Given the description of an element on the screen output the (x, y) to click on. 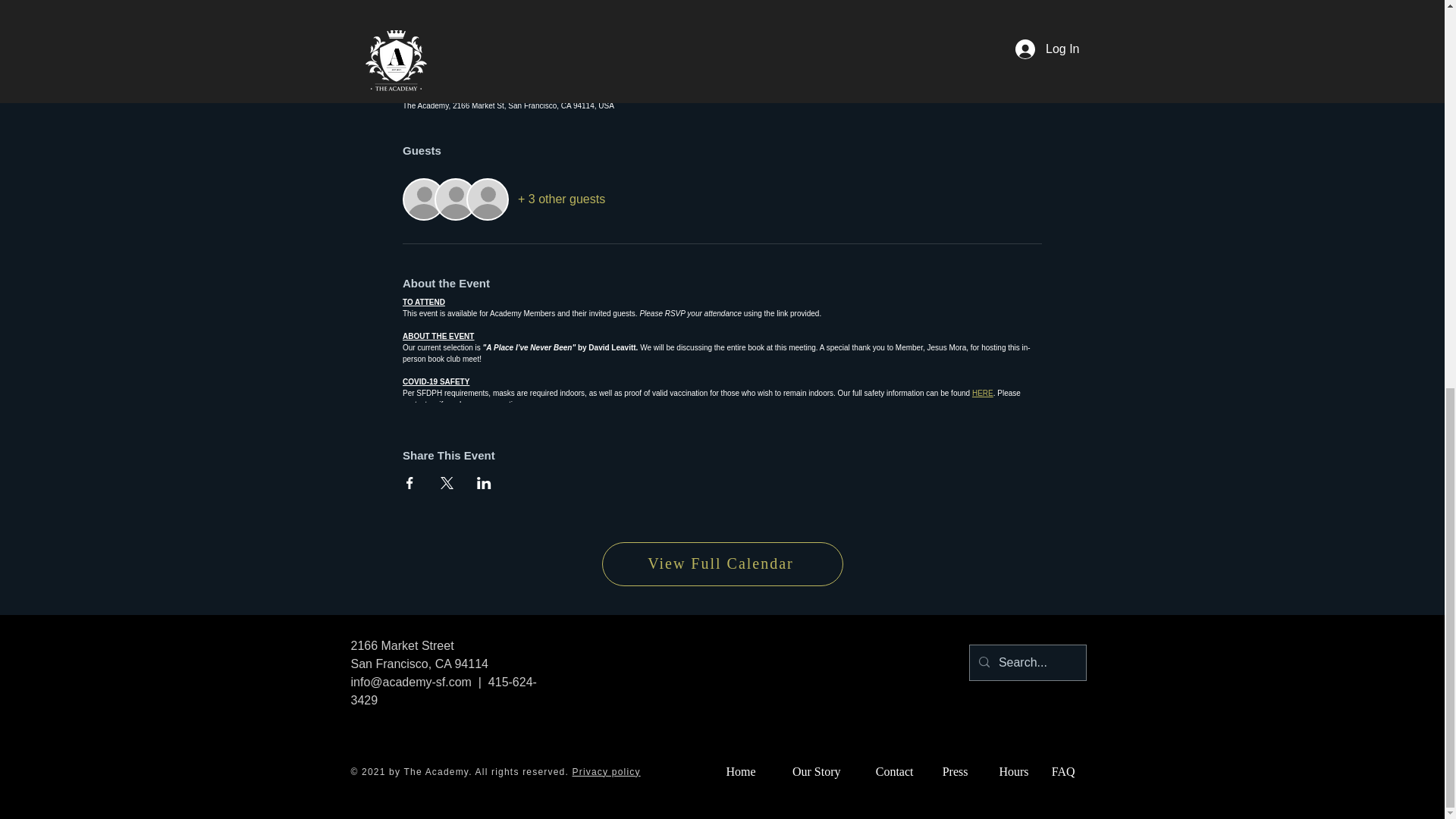
HERE (982, 393)
